Given the description of an element on the screen output the (x, y) to click on. 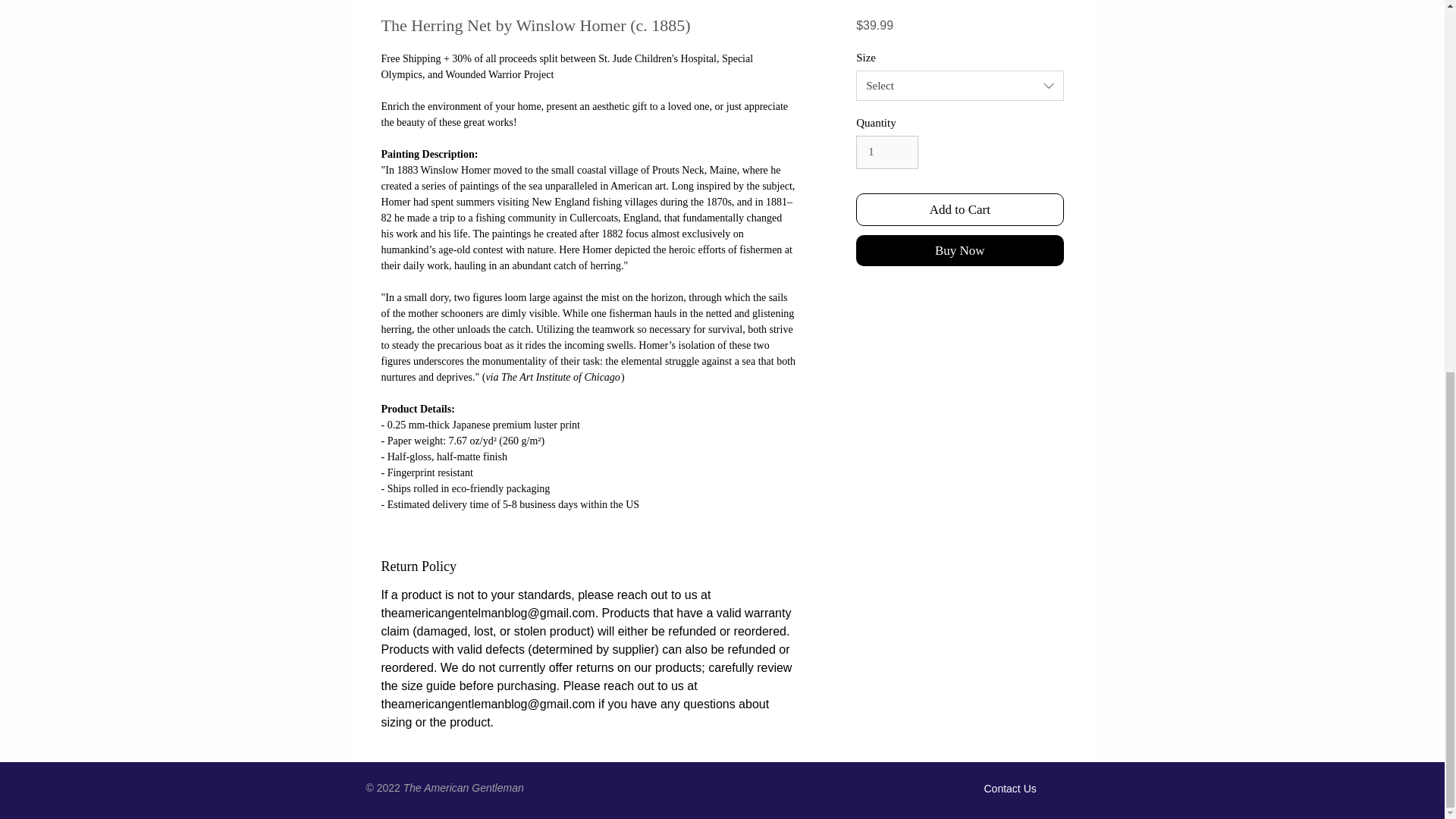
Contact Us (1010, 788)
Add to Cart (959, 209)
Buy Now (959, 250)
1 (887, 151)
Select (959, 85)
